Given the description of an element on the screen output the (x, y) to click on. 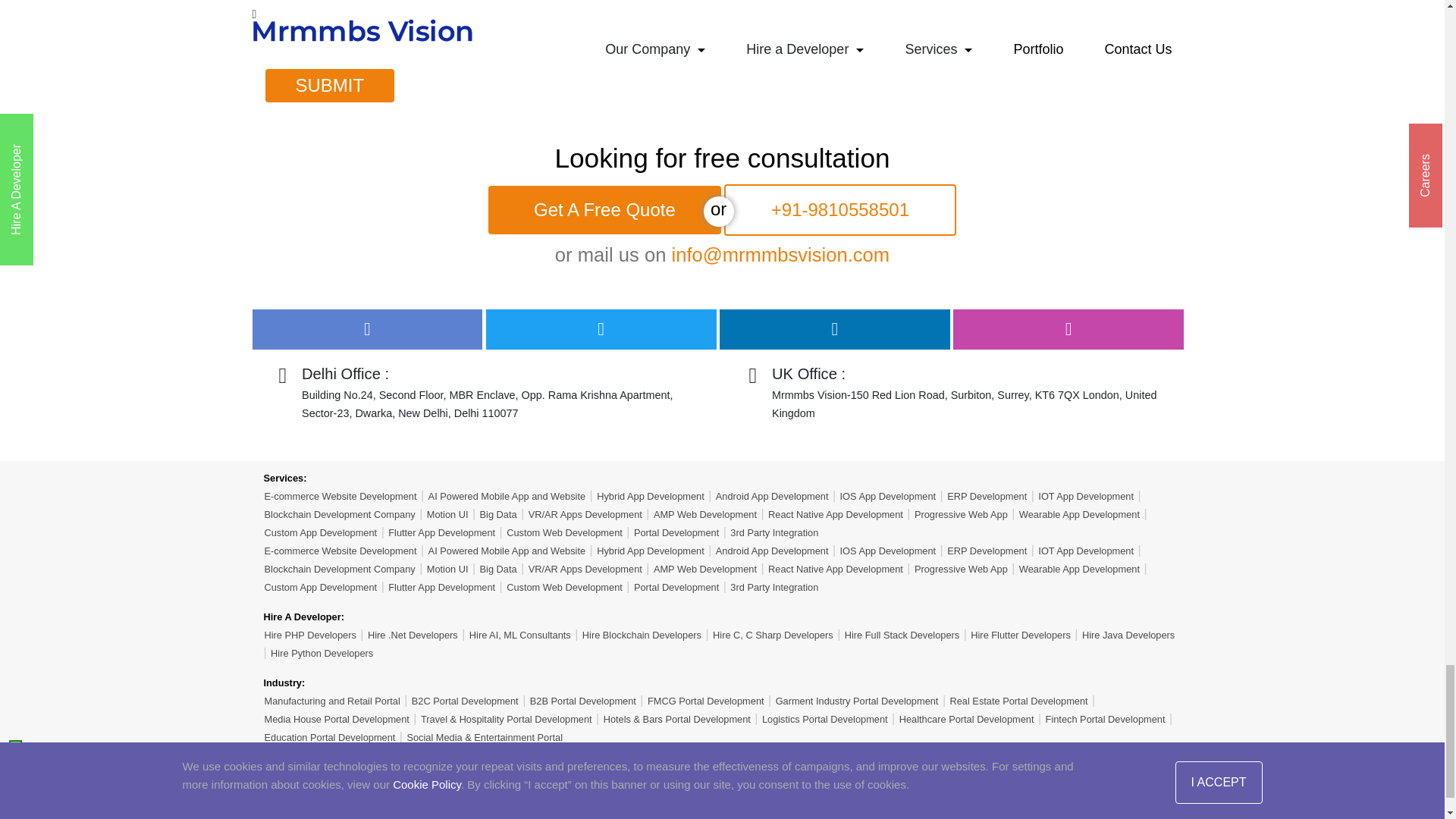
LinkedIn (834, 329)
Facebook (366, 329)
Twitter (601, 329)
Instagram (1068, 329)
